Given the description of an element on the screen output the (x, y) to click on. 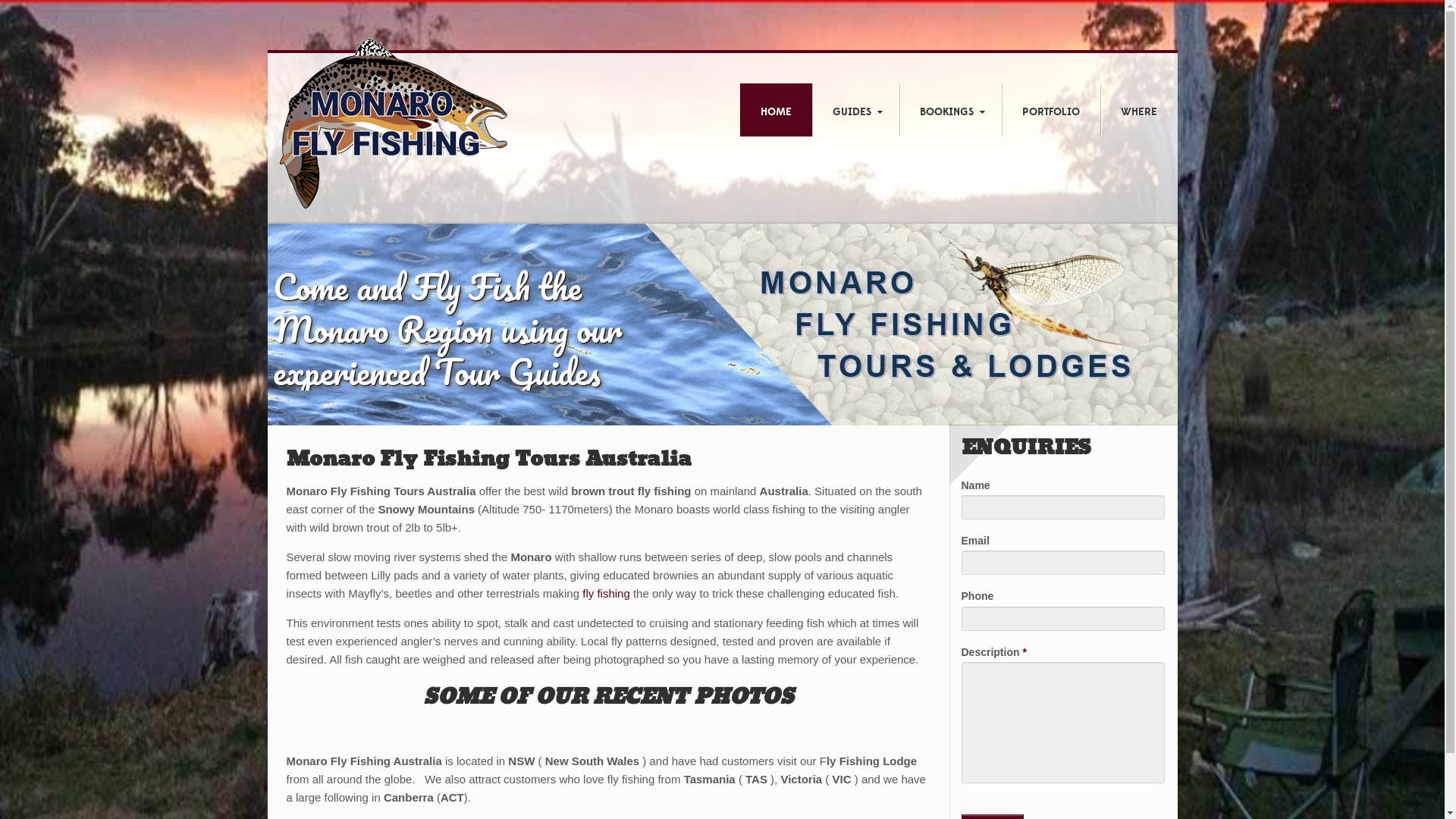
HOME Element type: text (775, 111)
GUIDES Element type: text (855, 111)
WHERE Element type: text (1138, 111)
BOOKINGS Element type: text (949, 111)
fly fishing Element type: text (606, 592)
PORTFOLIO Element type: text (1050, 111)
